Given the description of an element on the screen output the (x, y) to click on. 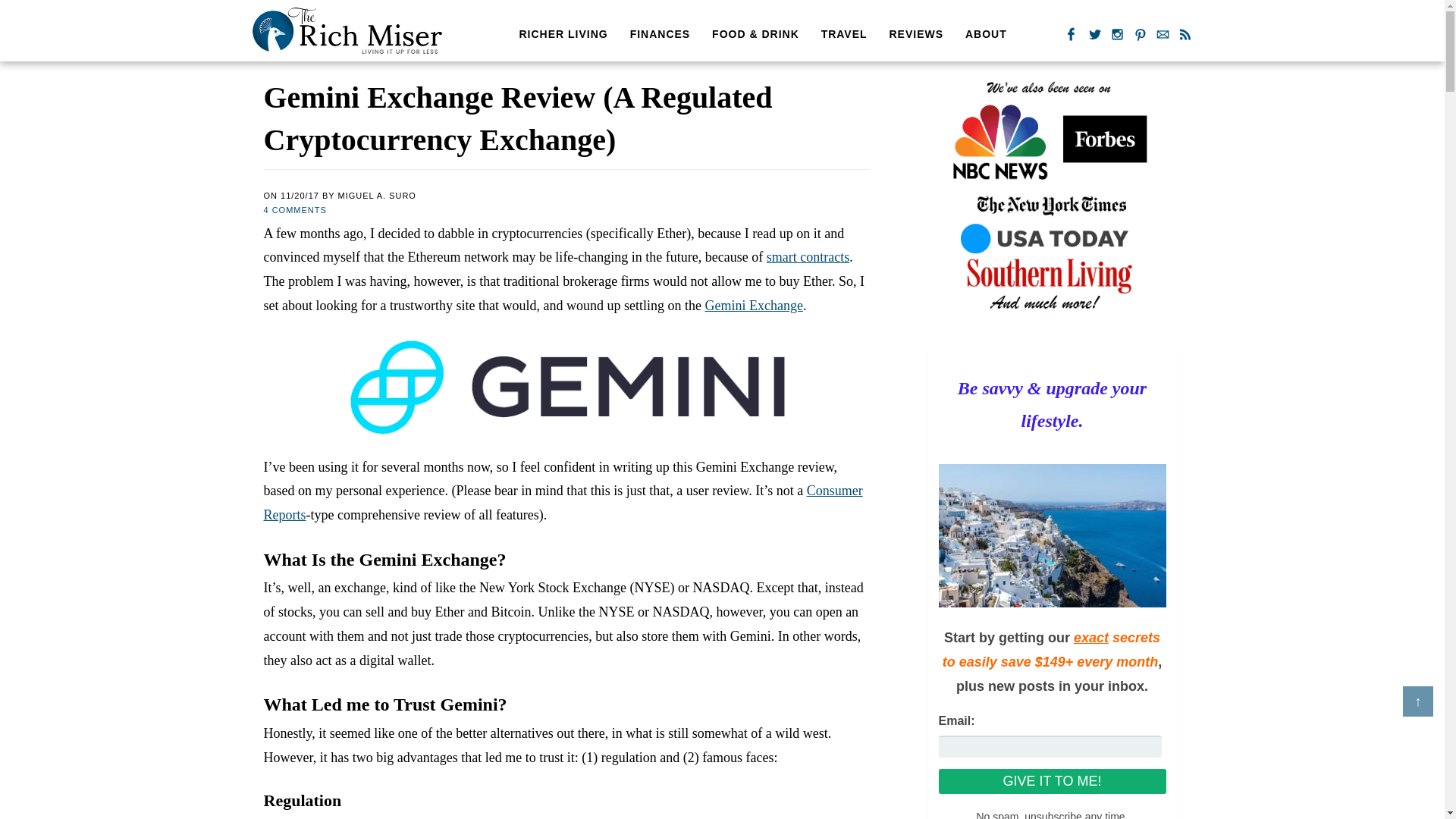
RICHER LIVING (562, 33)
Gemini Exchange (753, 305)
THE RICH MISER (346, 30)
REVIEWS (915, 33)
Consumer Reports (563, 502)
ABOUT (986, 33)
smart contracts (807, 256)
FINANCES (660, 33)
4 COMMENTS (294, 209)
TRAVEL (844, 33)
GIVE IT TO ME! (1052, 781)
